Given the description of an element on the screen output the (x, y) to click on. 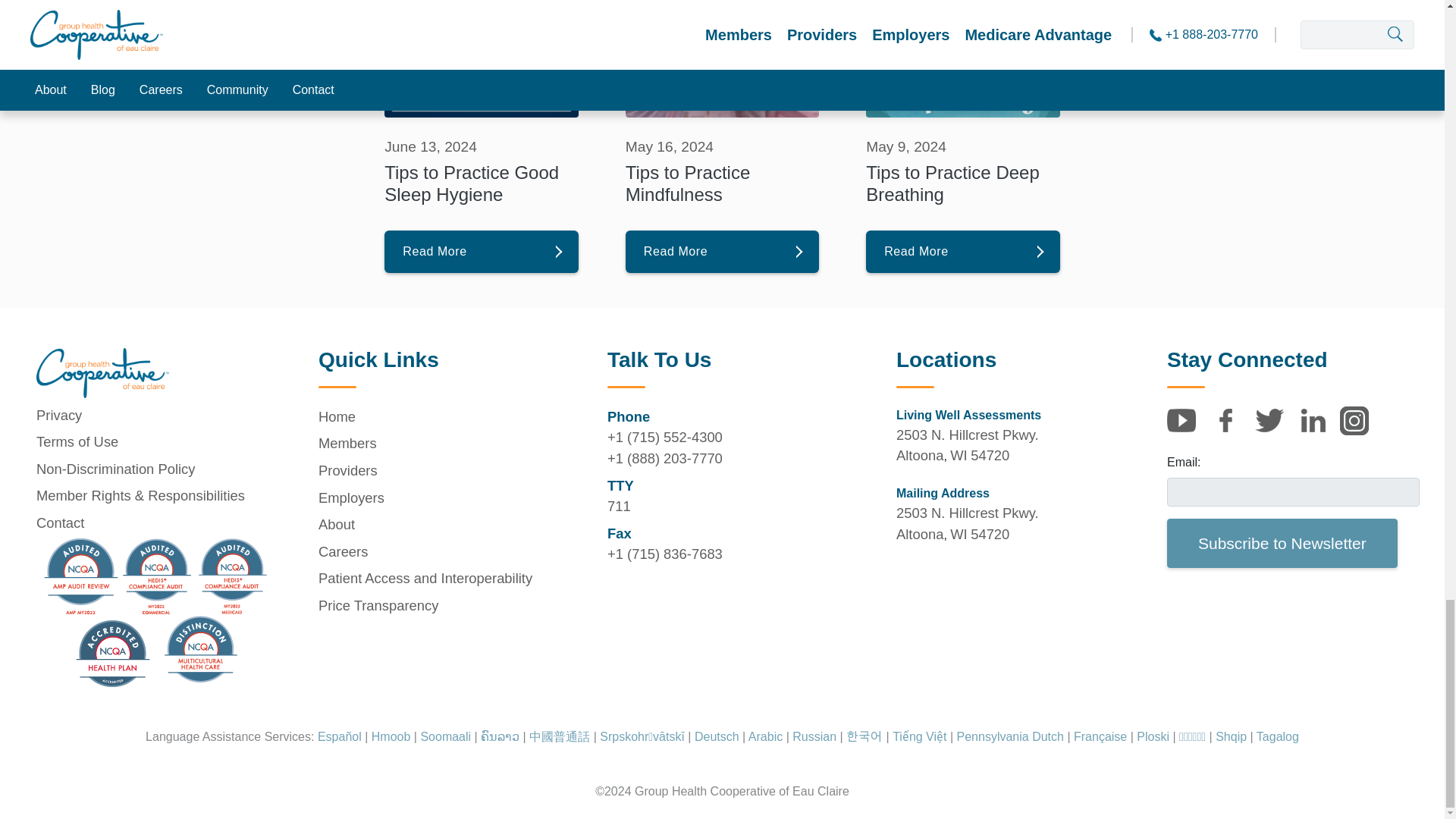
Careers (444, 551)
Non-Discrimination Policy (162, 469)
Contact (162, 523)
Patient Access and Interoperability (444, 578)
Price Transparency (444, 605)
Members (444, 443)
Employers (444, 497)
Terms of Use (162, 441)
About (444, 524)
Wisconsin (958, 534)
Providers (444, 470)
Subscribe to Newsletter (1282, 543)
Home (444, 386)
Wisconsin (958, 455)
711 (733, 506)
